Given the description of an element on the screen output the (x, y) to click on. 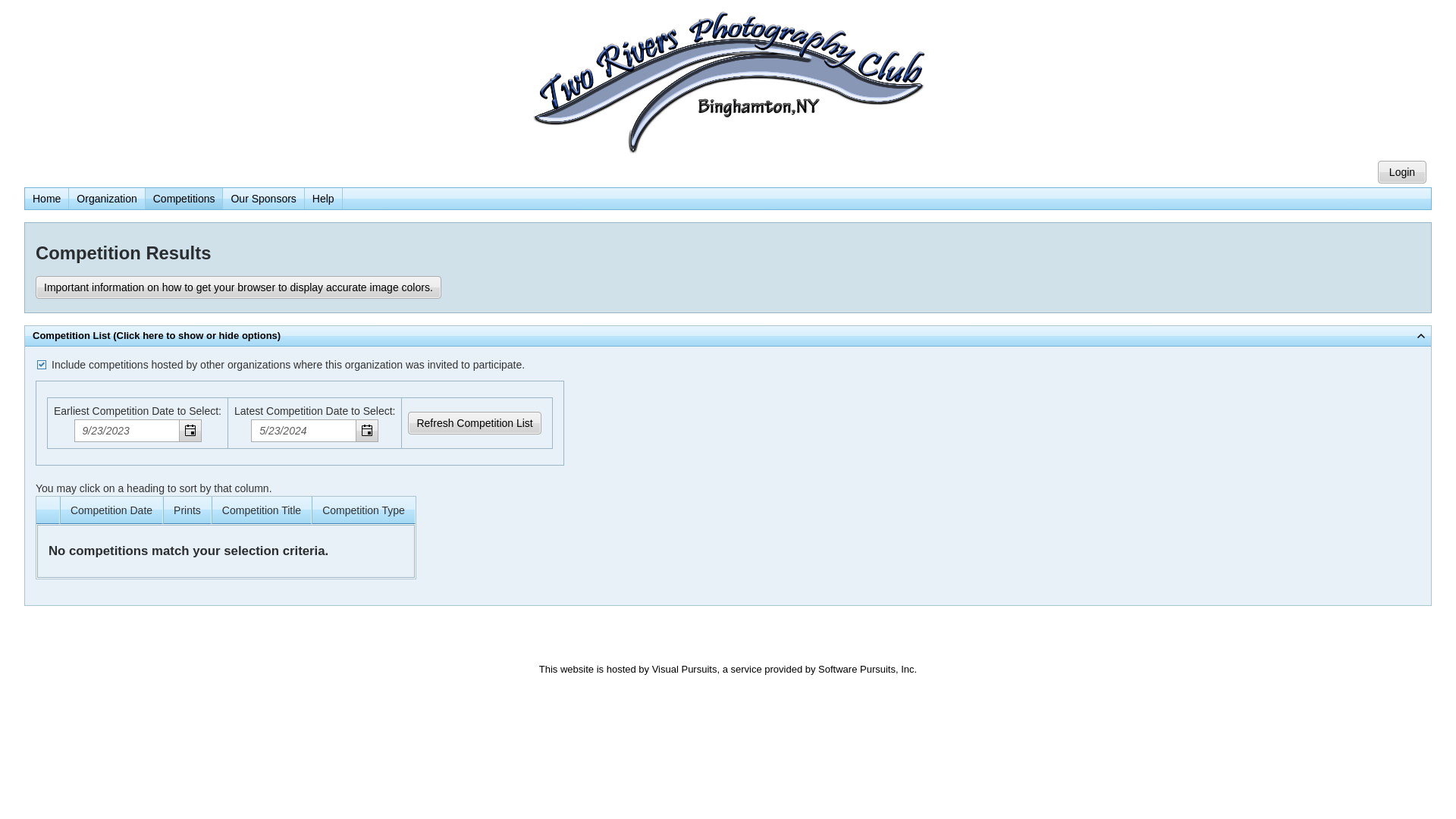
Organization Element type: text (106, 198)
Competition Date Element type: text (111, 510)
Competition Title Element type: text (261, 510)
Open the calendar popup. Element type: hover (189, 430)
Home Element type: text (46, 198)
Competition Type Element type: text (363, 510)
Our Sponsors Element type: text (262, 198)
Competitions Element type: text (183, 198)
Visual Pursuits Element type: text (684, 668)
Prints Element type: text (186, 510)
Login Element type: text (1401, 171)
Help Element type: text (323, 198)
Open the calendar popup. Element type: hover (366, 430)
Software Pursuits, Inc. Element type: text (867, 668)
Refresh Competition List Element type: text (473, 422)
